Given the description of an element on the screen output the (x, y) to click on. 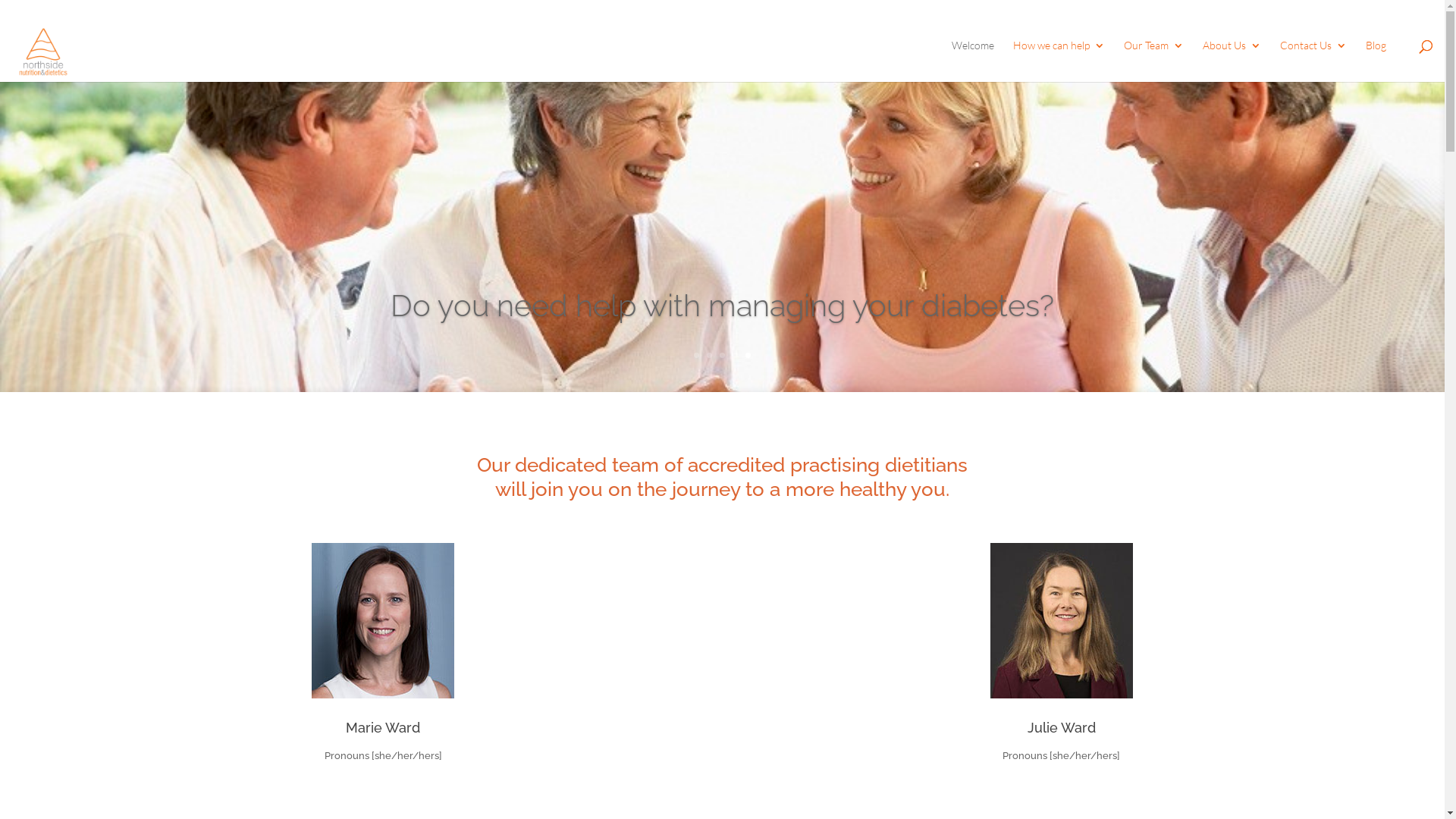
Julie Ward Element type: text (1061, 727)
Welcome Element type: text (972, 60)
3 Element type: text (721, 354)
How we can help Element type: text (1058, 60)
4 Element type: text (734, 354)
Our Team Element type: text (1153, 60)
Blog Element type: text (1375, 60)
1 Element type: text (696, 354)
2 Element type: text (709, 354)
5 Element type: text (747, 354)
About Us Element type: text (1231, 60)
Contact Us Element type: text (1313, 60)
Marie Ward Element type: text (382, 727)
